Given the description of an element on the screen output the (x, y) to click on. 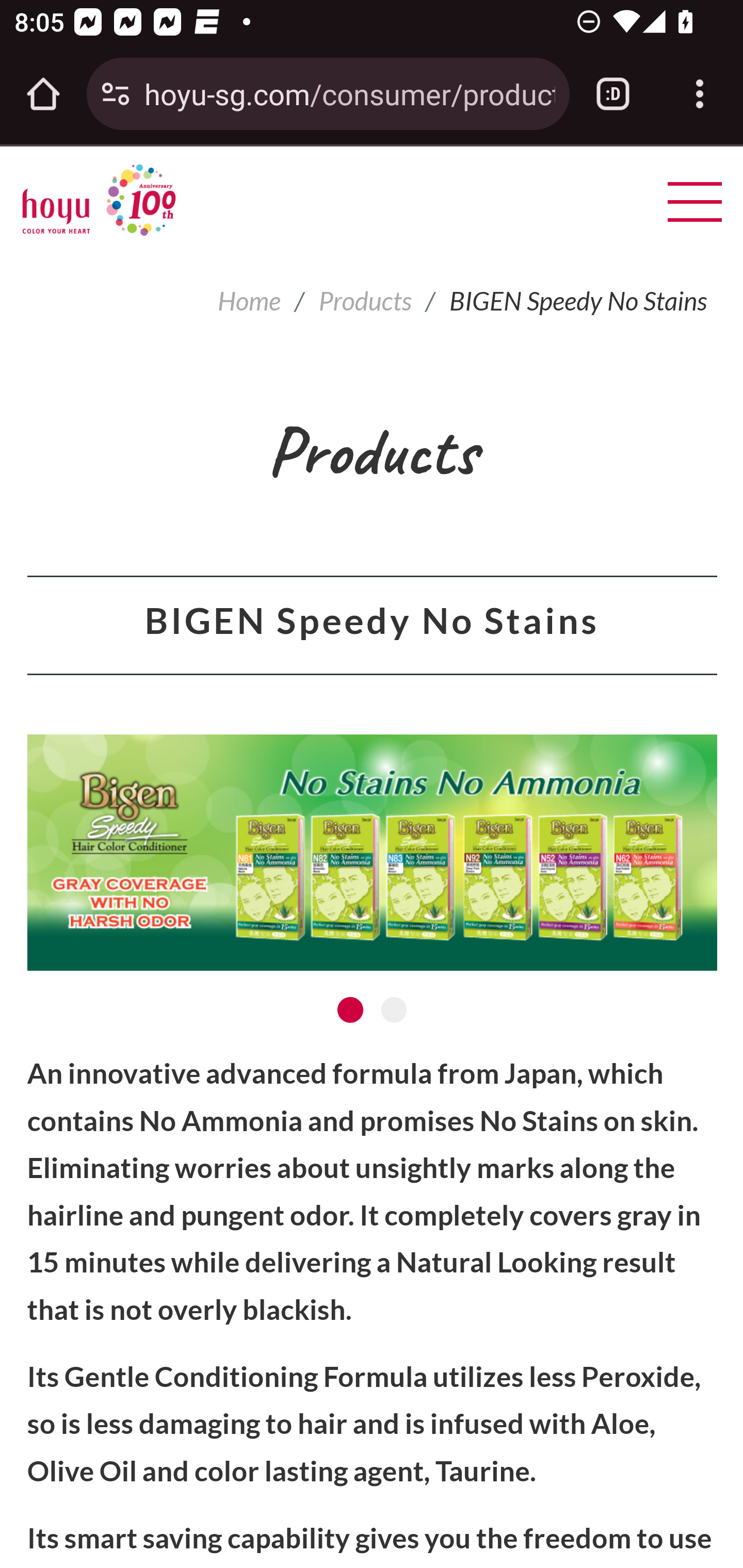
Open the home page (43, 93)
Connection is secure (115, 93)
Switch or close tabs (612, 93)
Customize and control Google Chrome (699, 93)
hoyu Singapore (98, 199)
Home (248, 300)
Products (365, 300)
